Given the description of an element on the screen output the (x, y) to click on. 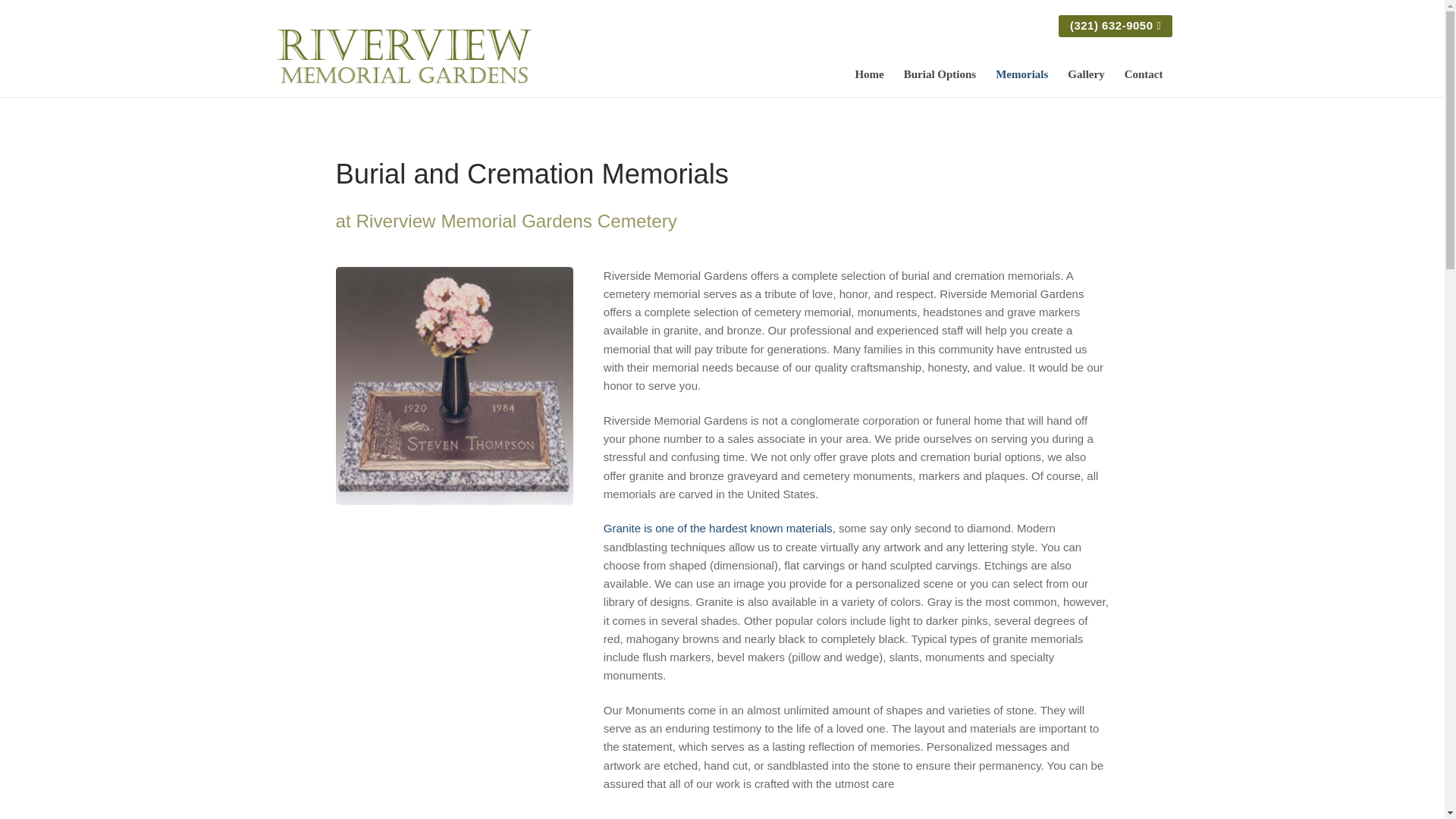
flat-memoral5 (453, 385)
Home (868, 73)
Granite is one of the hardest known materials (718, 527)
Gallery (1085, 73)
Memorials (1021, 73)
Burial Options (939, 73)
Contact (1144, 73)
